Given the description of an element on the screen output the (x, y) to click on. 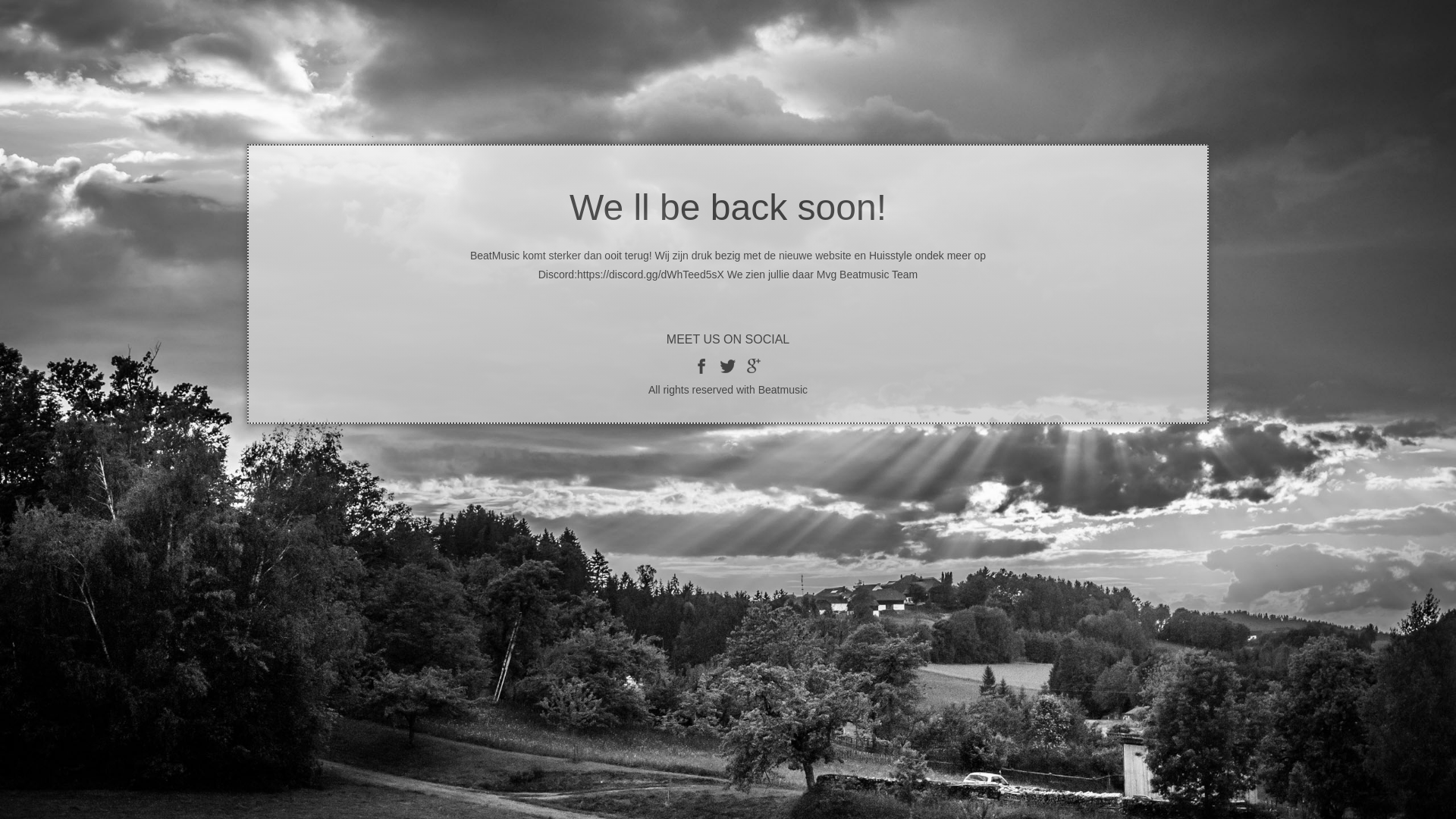
facebook Element type: hover (701, 365)
facebook Element type: hover (727, 365)
